Given the description of an element on the screen output the (x, y) to click on. 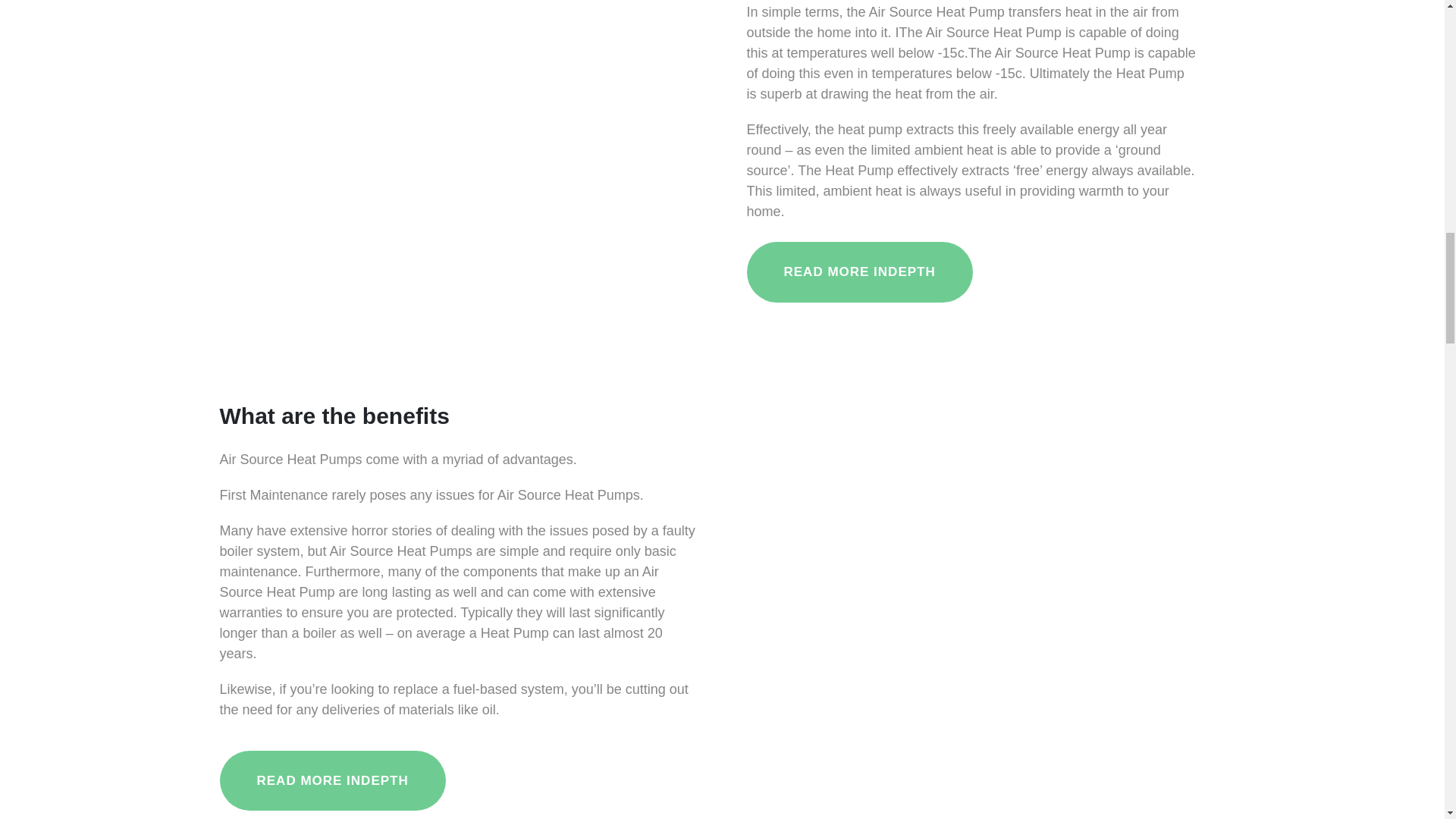
READ MORE INDEPTH (858, 271)
READ MORE INDEPTH (332, 781)
